Given the description of an element on the screen output the (x, y) to click on. 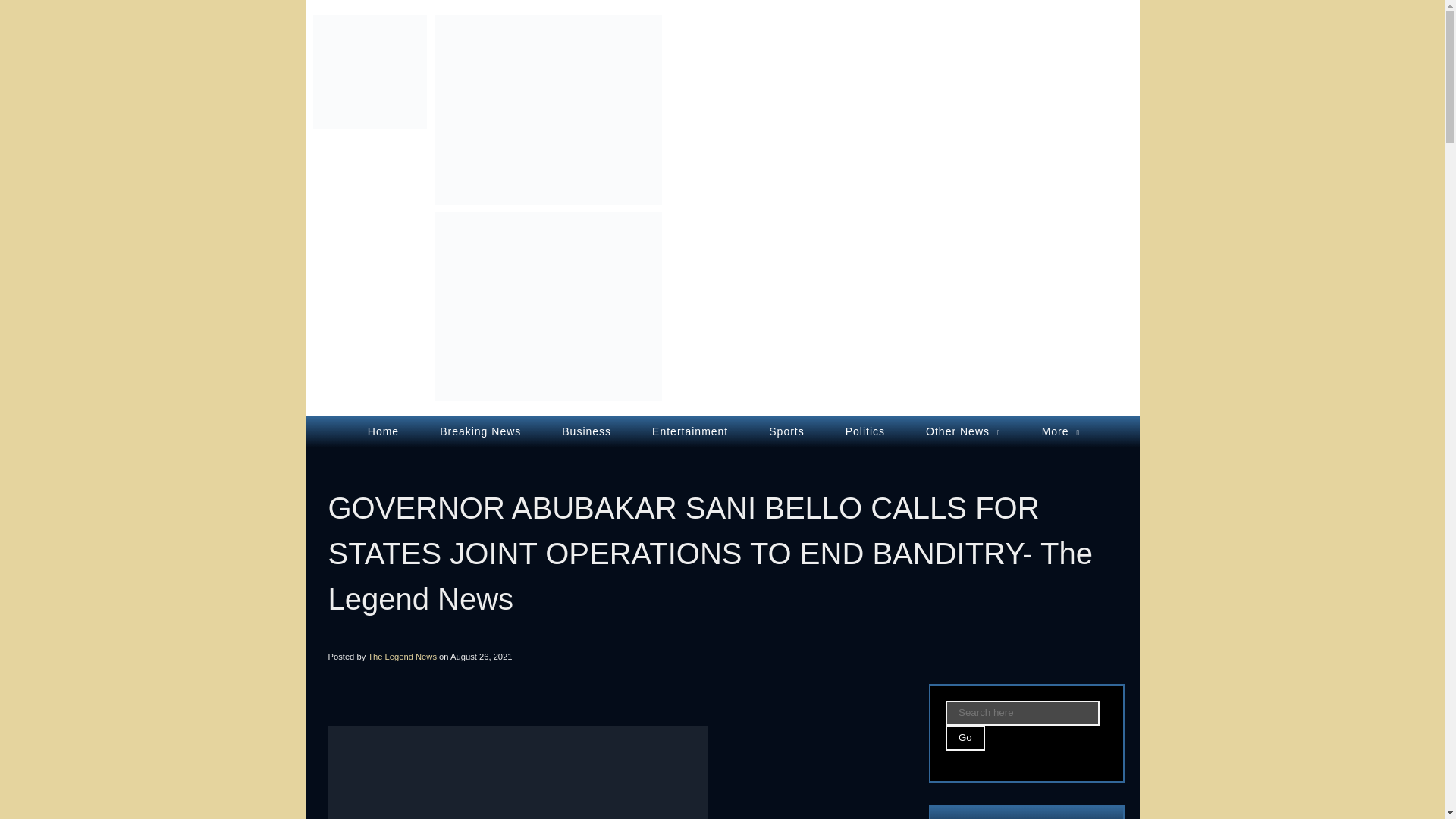
Sports (786, 431)
Other News (963, 431)
More Contents (1061, 431)
Posts by The Legend News (402, 655)
The Legend News (402, 655)
More (1061, 431)
Breaking News (480, 431)
Entertainment (689, 431)
Politics (864, 431)
Go (964, 738)
Business (585, 431)
The Legend News (369, 75)
Home (382, 431)
